Given the description of an element on the screen output the (x, y) to click on. 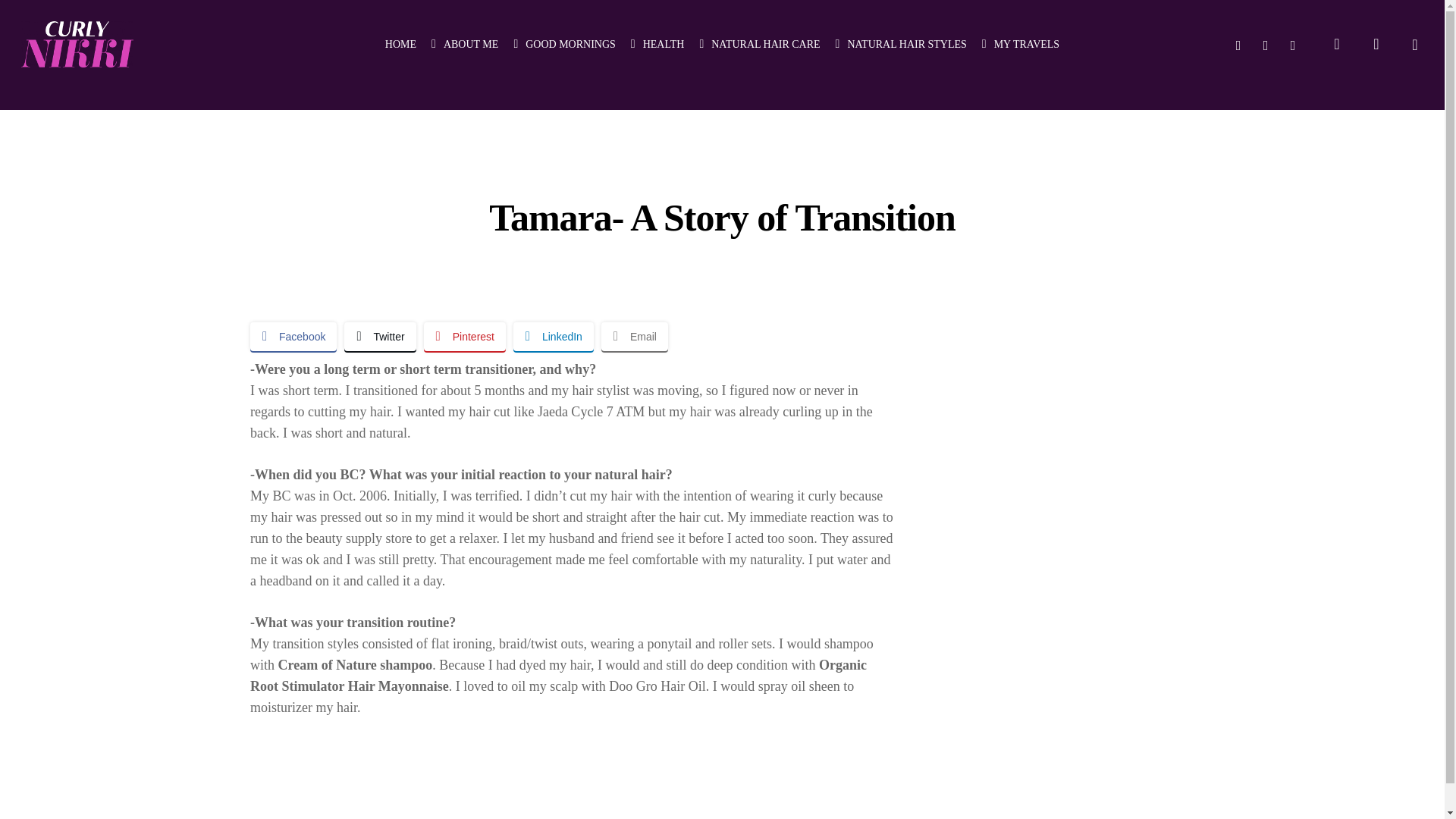
NATURAL HAIR STYLES (900, 44)
HEALTH (657, 44)
GOOD MORNINGS (563, 44)
HOME (400, 44)
ABOUT ME (463, 44)
NATURAL HAIR CARE (758, 44)
